Given the description of an element on the screen output the (x, y) to click on. 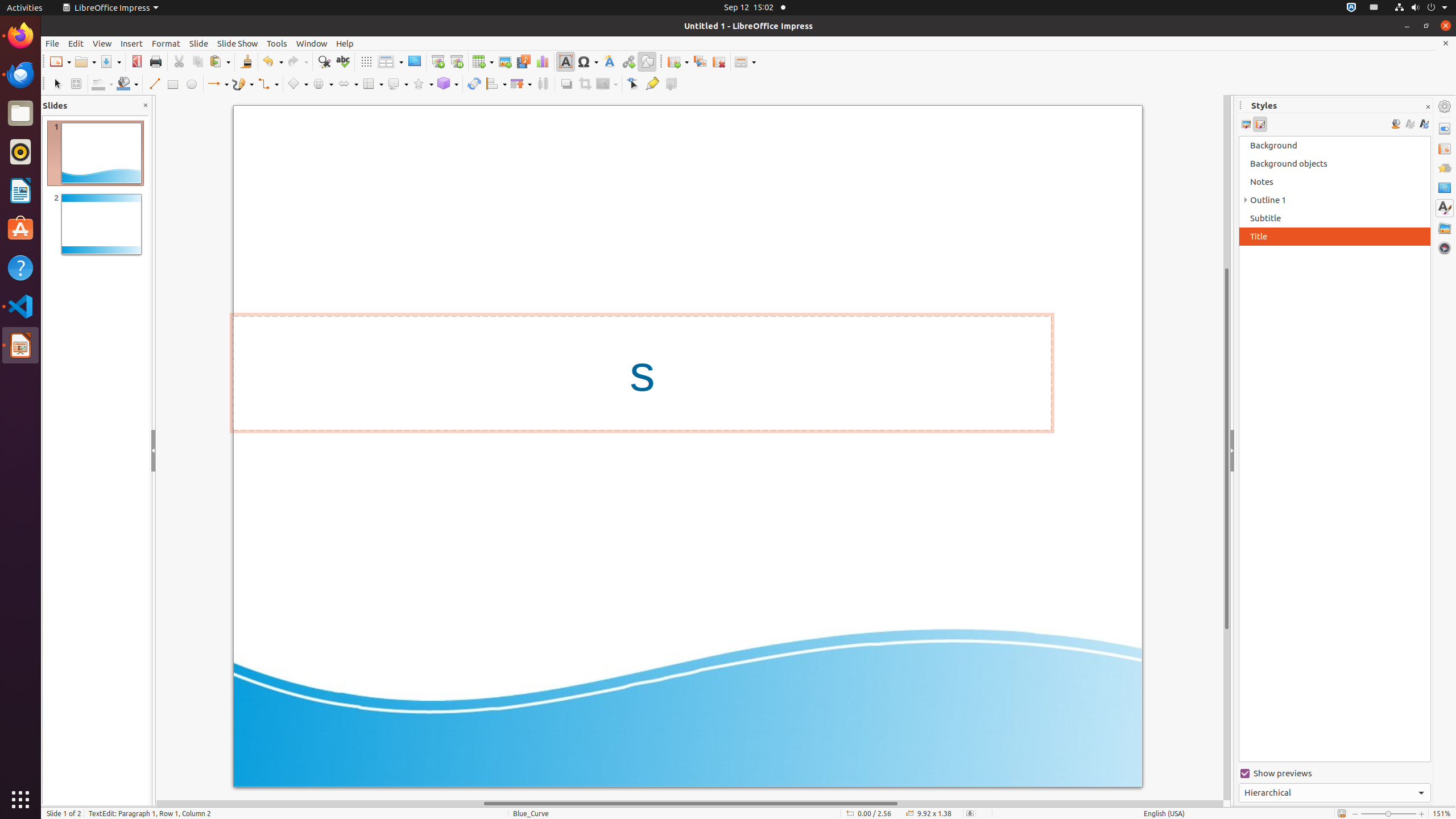
Line Color Element type: push-button (101, 83)
Start from Current Slide Element type: push-button (456, 61)
Rotate Element type: push-button (473, 83)
Thunderbird Mail Element type: push-button (20, 74)
Rectangle Element type: push-button (172, 83)
